Given the description of an element on the screen output the (x, y) to click on. 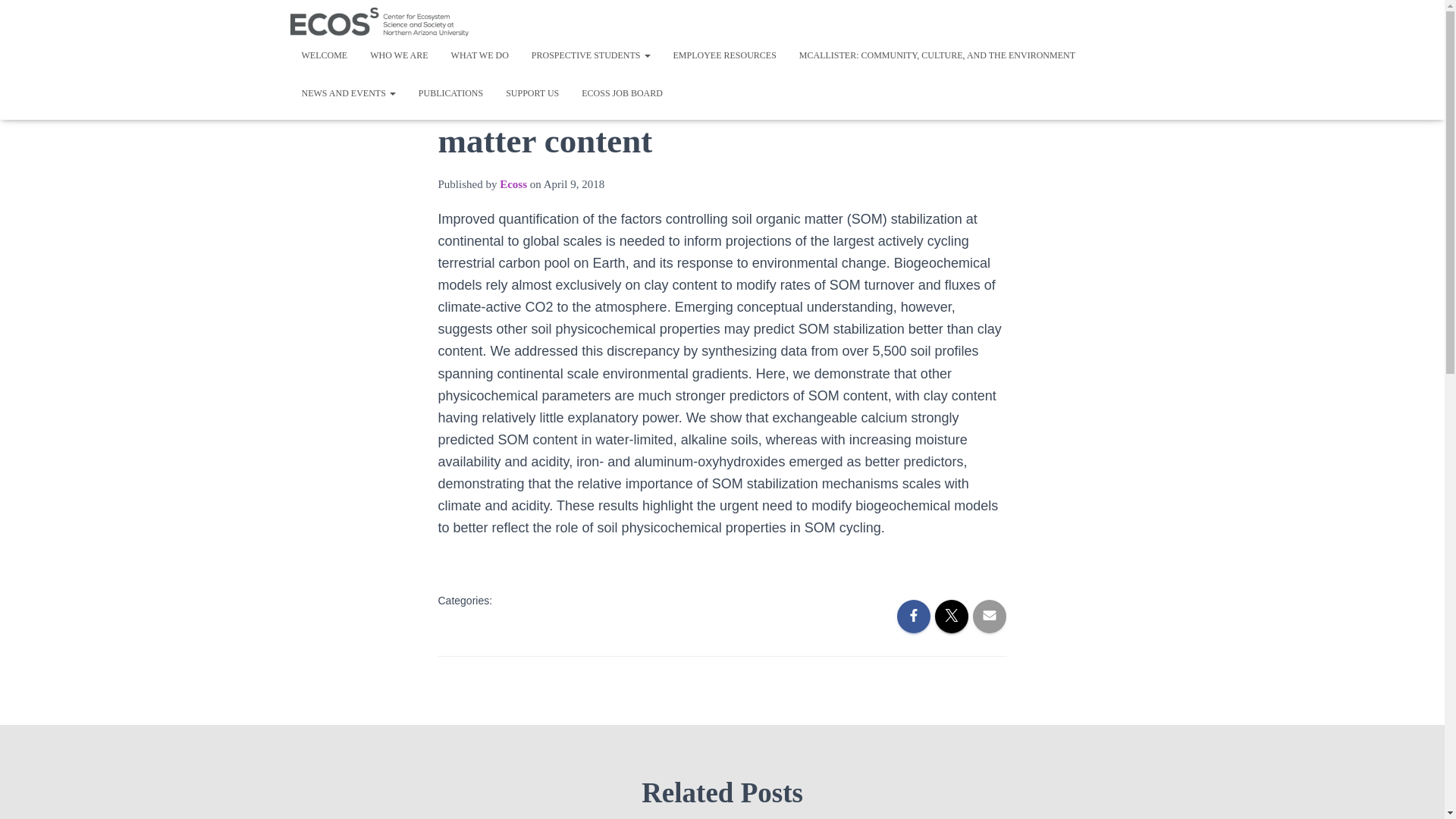
NEWS AND EVENTS (347, 93)
What We Do (479, 55)
PUBLICATIONS (451, 93)
Publications (451, 93)
WELCOME (323, 55)
Employee Resources (724, 55)
ECOSS Job Board (622, 93)
Who We Are (398, 55)
Welcome (323, 55)
News and Events (347, 93)
Ecoss (513, 183)
Ecoss (379, 21)
SUPPORT US (532, 93)
WHAT WE DO (479, 55)
WHO WE ARE (398, 55)
